Given the description of an element on the screen output the (x, y) to click on. 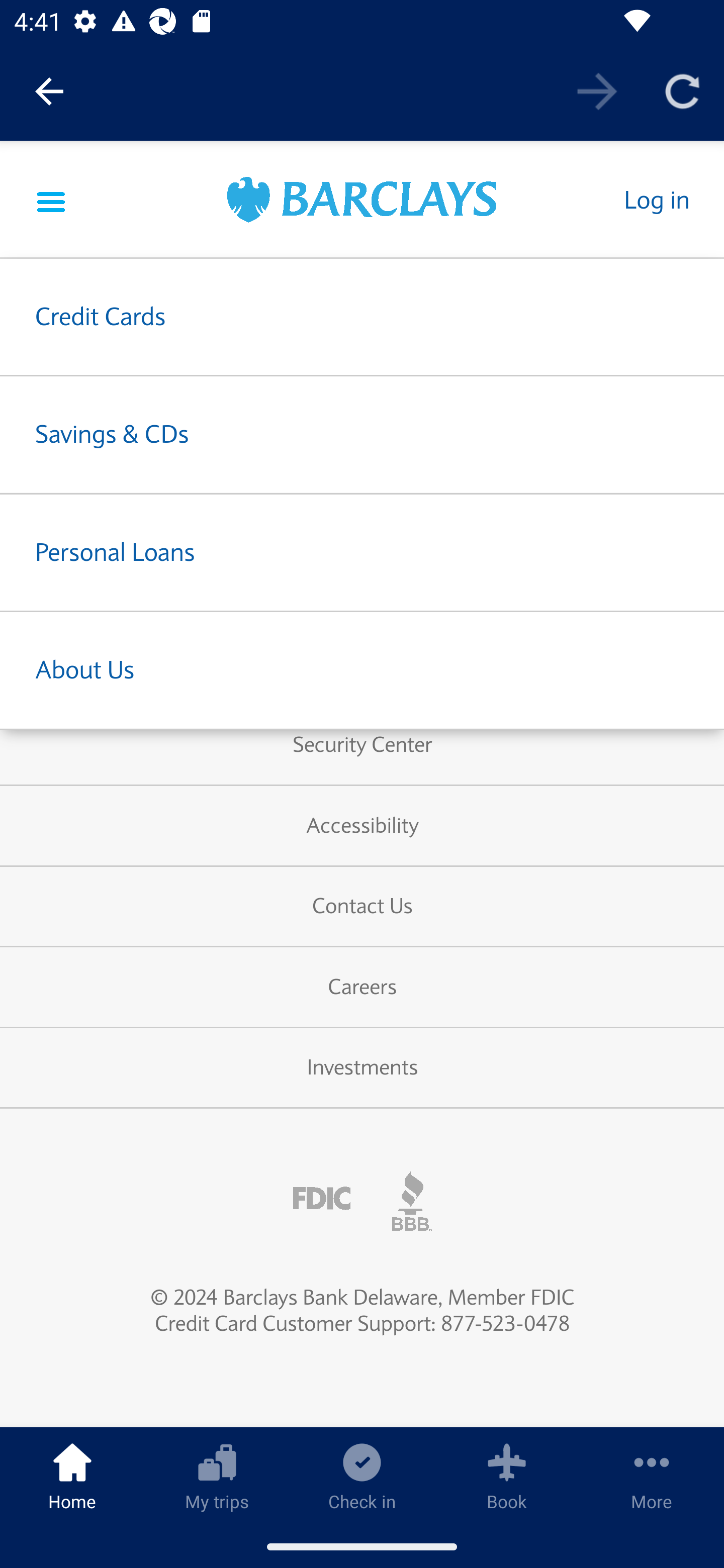
Navigate up (49, 91)
Forward (597, 90)
Reload (681, 90)
Menu (51, 199)
Log in (655, 199)
Barclays (362, 202)
Credit Cards (362, 317)
Savings & CDs (362, 434)
Personal Loans (362, 552)
About Us (362, 670)
Security Center (362, 745)
Accessibility (362, 826)
Contact Us (362, 907)
Careers (362, 987)
Investments (362, 1069)
Insured by the FDIC (321, 1199)
View the Better Business Bureau accreditation (411, 1200)
My trips (216, 1475)
Check in (361, 1475)
Book (506, 1475)
More (651, 1475)
